Given the description of an element on the screen output the (x, y) to click on. 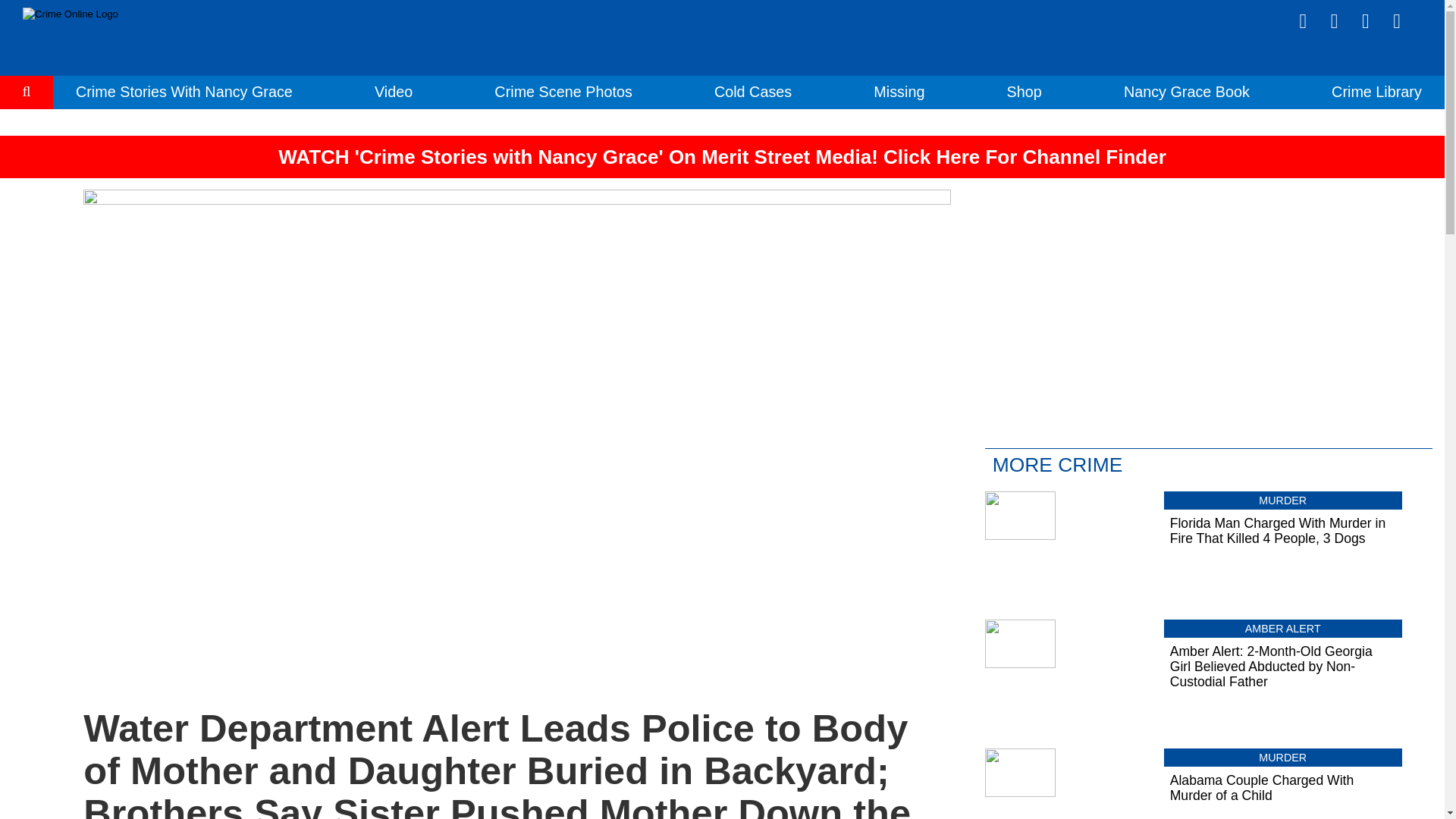
Video (393, 91)
Crime Library (1377, 91)
Search (27, 138)
Nancy Grace Book (1186, 91)
Crime Scene Photos (563, 91)
Missing (898, 91)
Cold Cases (753, 91)
Crime Stories With Nancy Grace (183, 91)
Shop (1024, 91)
